Given the description of an element on the screen output the (x, y) to click on. 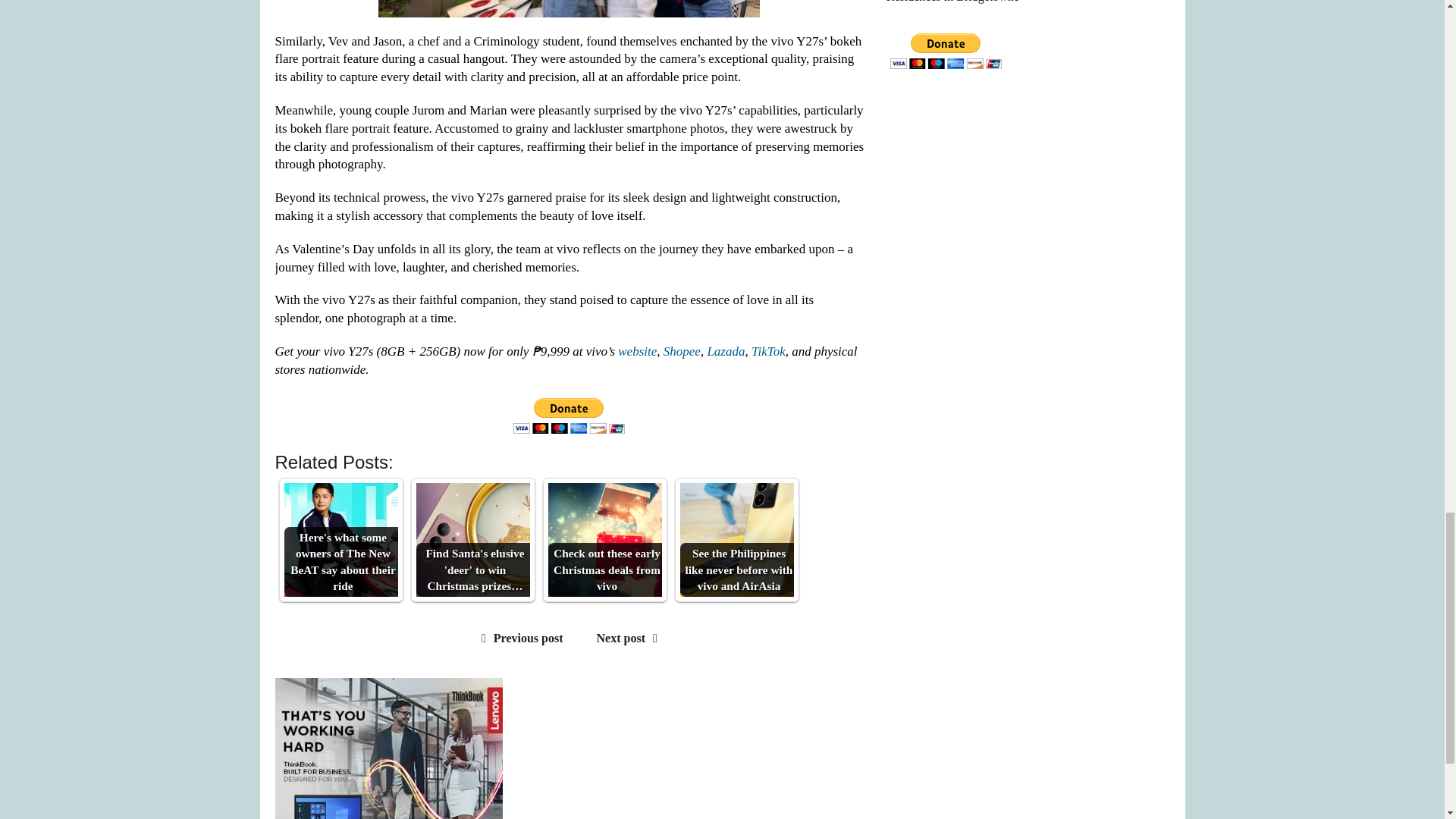
Here's what some owners of The New BeAT say about their ride (340, 540)
Here's what some owners of The New BeAT say about their ride (340, 540)
Next post (630, 637)
See the Philippines like never before with vivo and AirAsia (736, 540)
TikTok (768, 350)
Previous post (518, 637)
Check out these early Christmas deals from vivo (604, 540)
Shopee (681, 350)
See the Philippines like never before with vivo and AirAsia (736, 540)
